Given the description of an element on the screen output the (x, y) to click on. 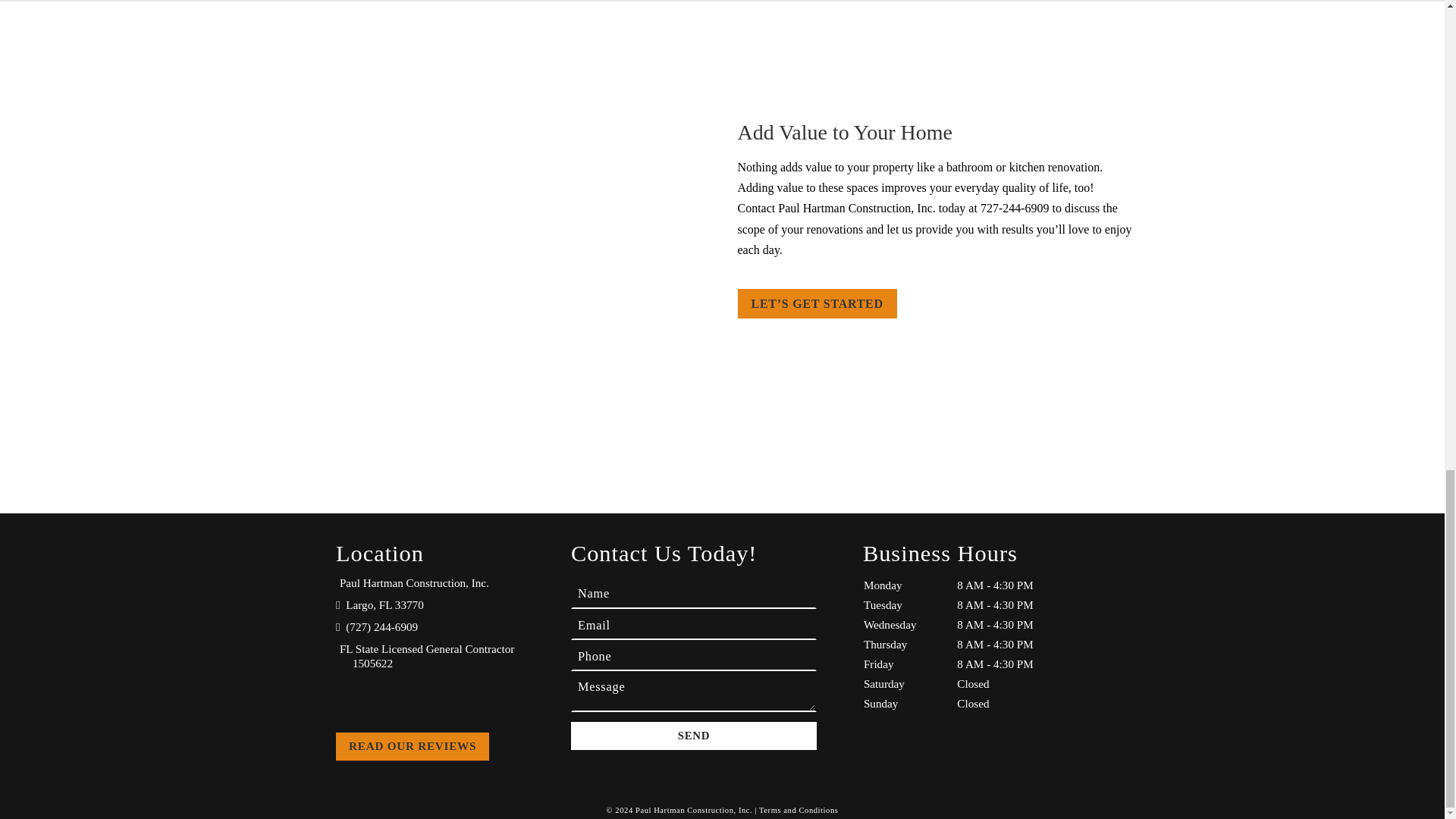
727-244-6909 (1014, 207)
Terms and Conditions (798, 809)
Largo, FL 33770 (381, 604)
Send (693, 735)
READ OUR REVIEWS (412, 746)
Send (693, 735)
